Given the description of an element on the screen output the (x, y) to click on. 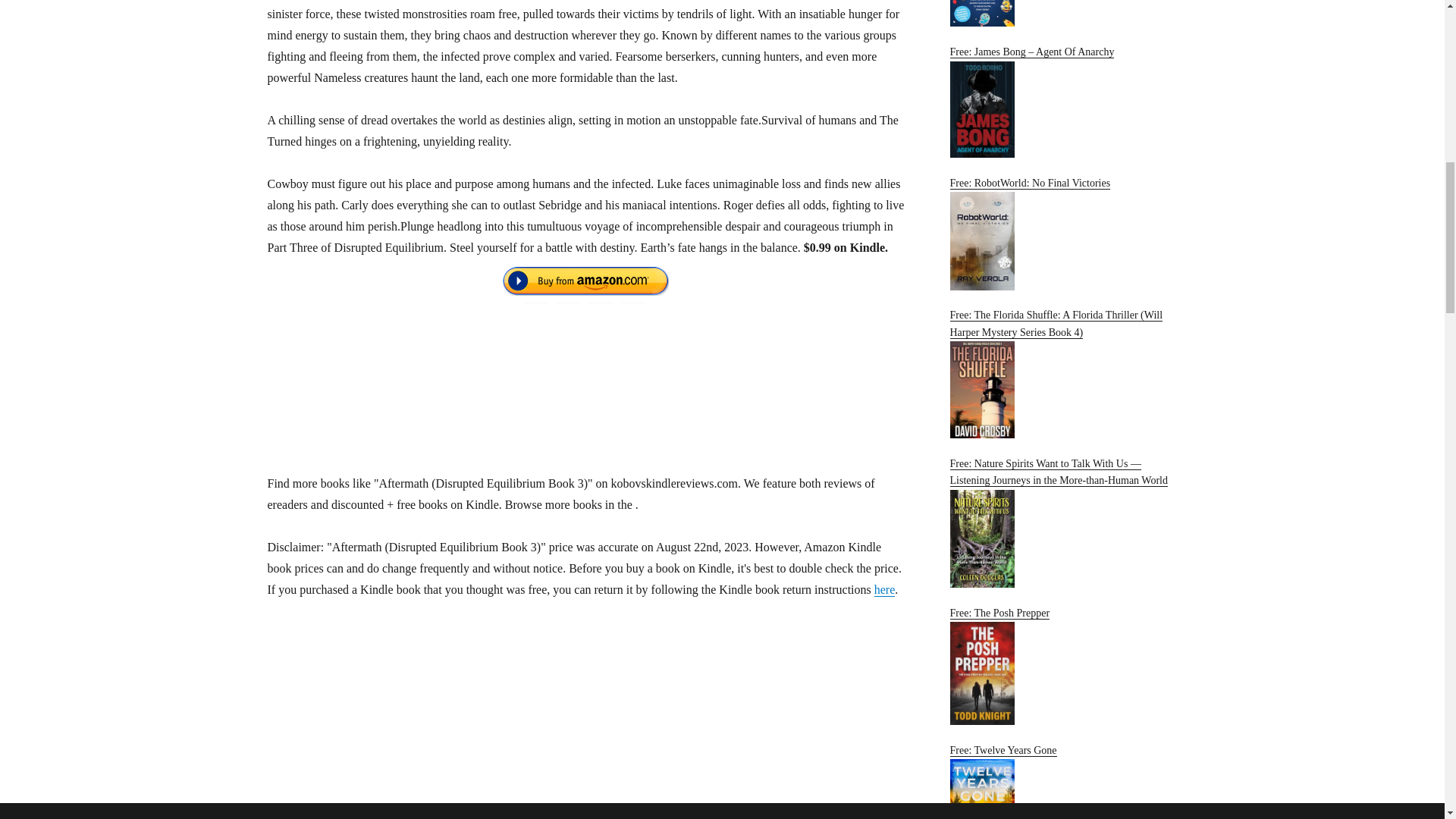
Free: Twelve Years Gone (1062, 781)
Free: RobotWorld: No Final Victories (1062, 233)
Free: Multiplication Facts Made Easy (1062, 13)
Free: The Posh Prepper (1062, 665)
here (885, 589)
